Given the description of an element on the screen output the (x, y) to click on. 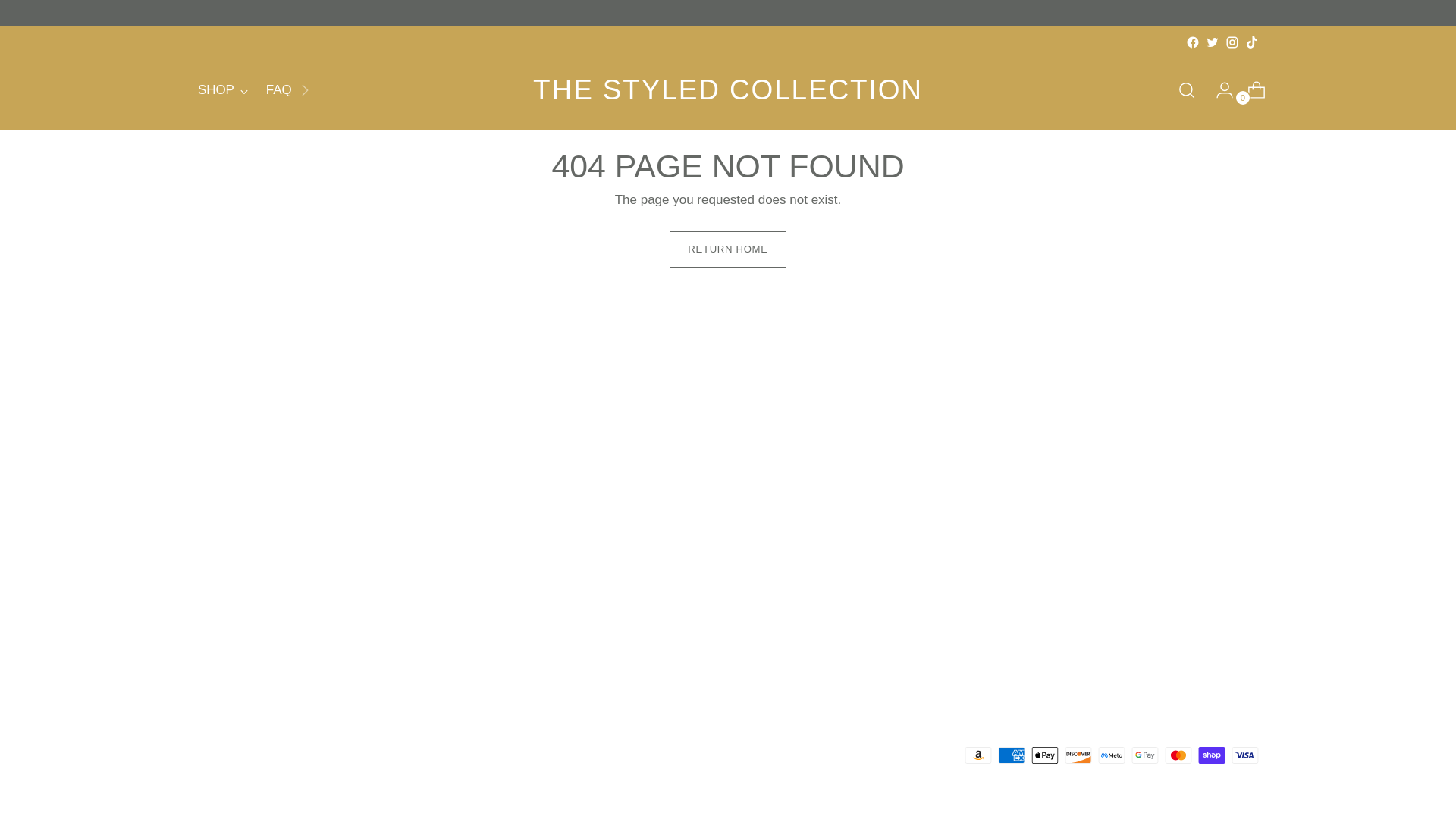
The Styled Collection on Twitter (1212, 42)
SHOP (222, 90)
0 (255, 89)
THE STYLED COLLECTION (1249, 90)
The Styled Collection on Tiktok (727, 90)
The Styled Collection on Facebook (1251, 42)
The Styled Collection on Instagram (1192, 42)
